Given the description of an element on the screen output the (x, y) to click on. 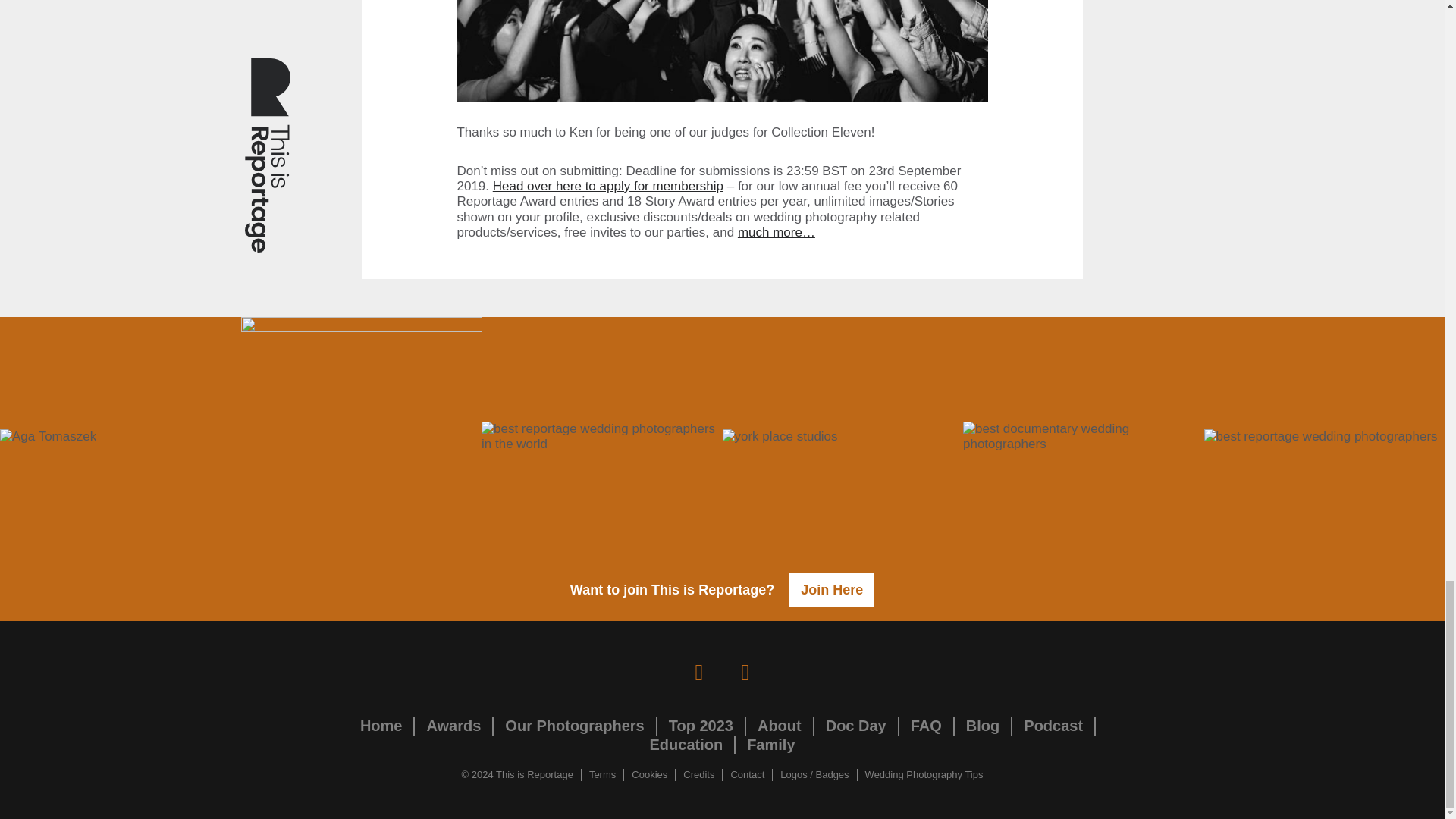
Family (770, 744)
Blog (982, 725)
Head over here to apply for membership (608, 186)
Doc Day (855, 725)
About (779, 725)
Join Here (832, 589)
Education (685, 744)
Awards (453, 725)
FAQ (926, 725)
Home (381, 725)
Our Photographers (574, 725)
Podcast (1053, 725)
Terms (602, 774)
Top 2023 (700, 725)
